Given the description of an element on the screen output the (x, y) to click on. 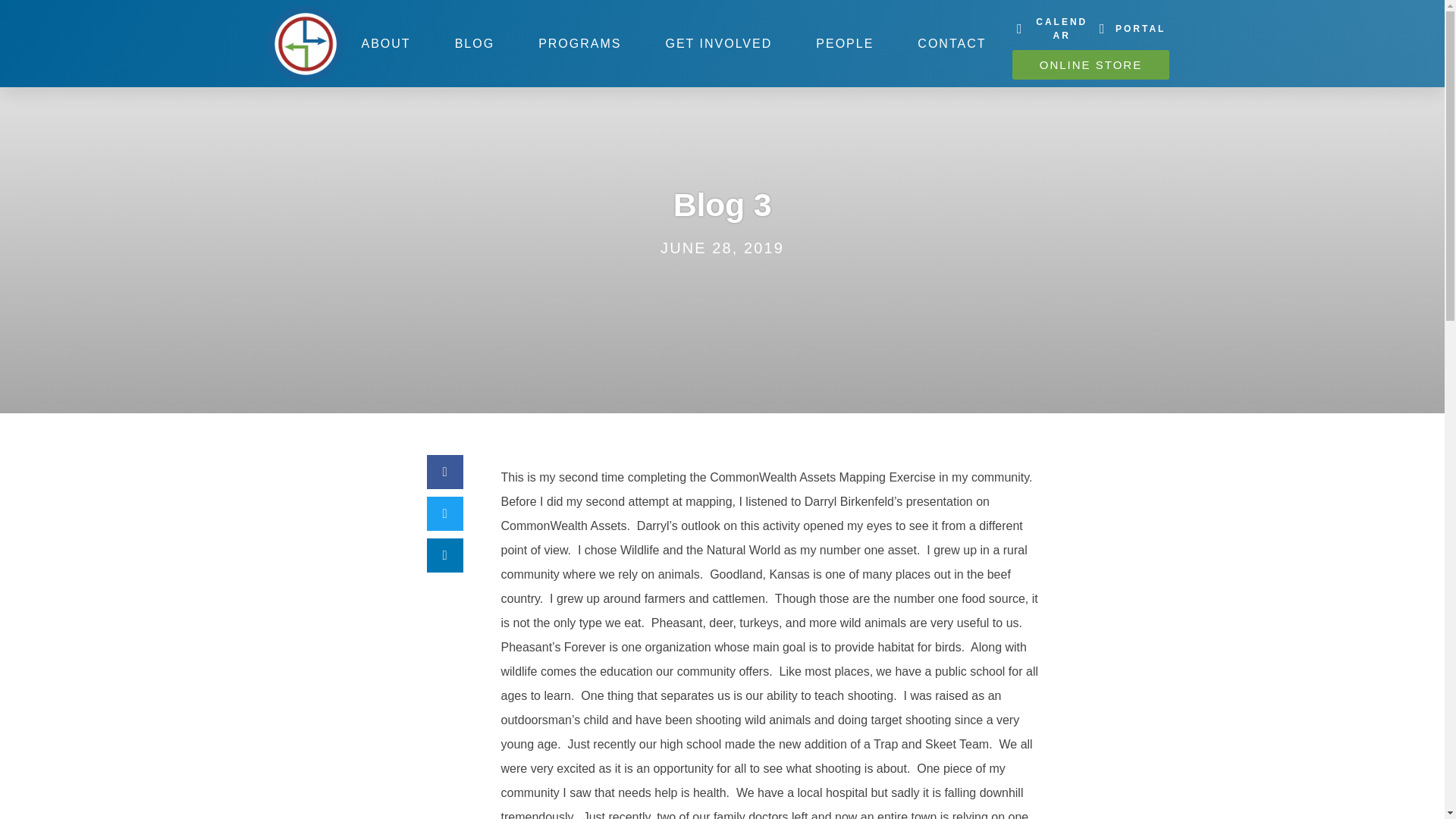
PEOPLE (844, 43)
PORTAL (1130, 29)
CALENDAR (1050, 28)
BLOG (474, 43)
PROGRAMS (579, 43)
GET INVOLVED (718, 43)
ABOUT (385, 43)
CONTACT (951, 43)
